Given the description of an element on the screen output the (x, y) to click on. 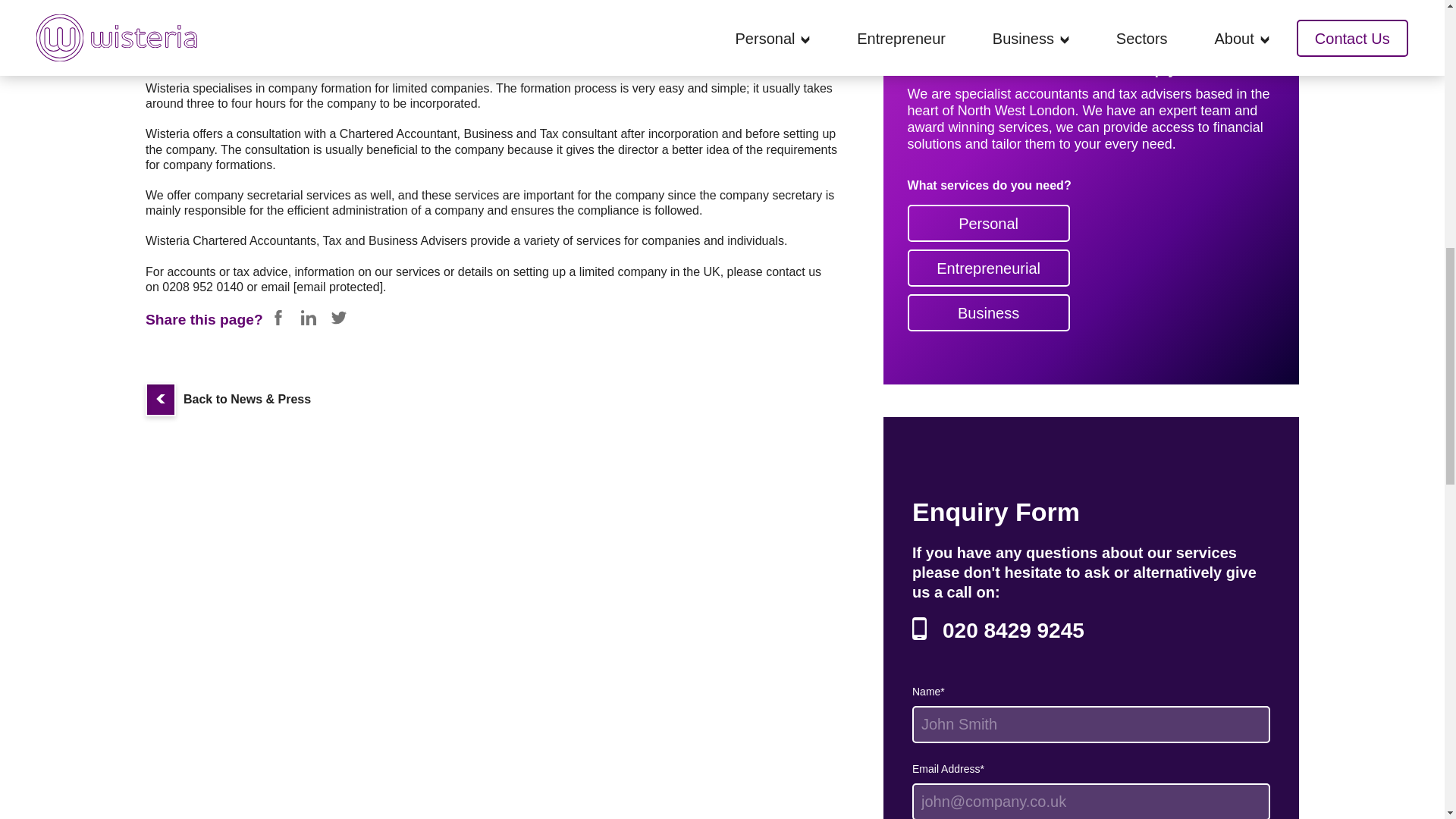
Chartered Accountant, Business and Tax consultant (478, 134)
Personal (988, 222)
Entrepreneurial (988, 267)
Business (988, 312)
Wisteria Chartered Accountants (230, 241)
